Given the description of an element on the screen output the (x, y) to click on. 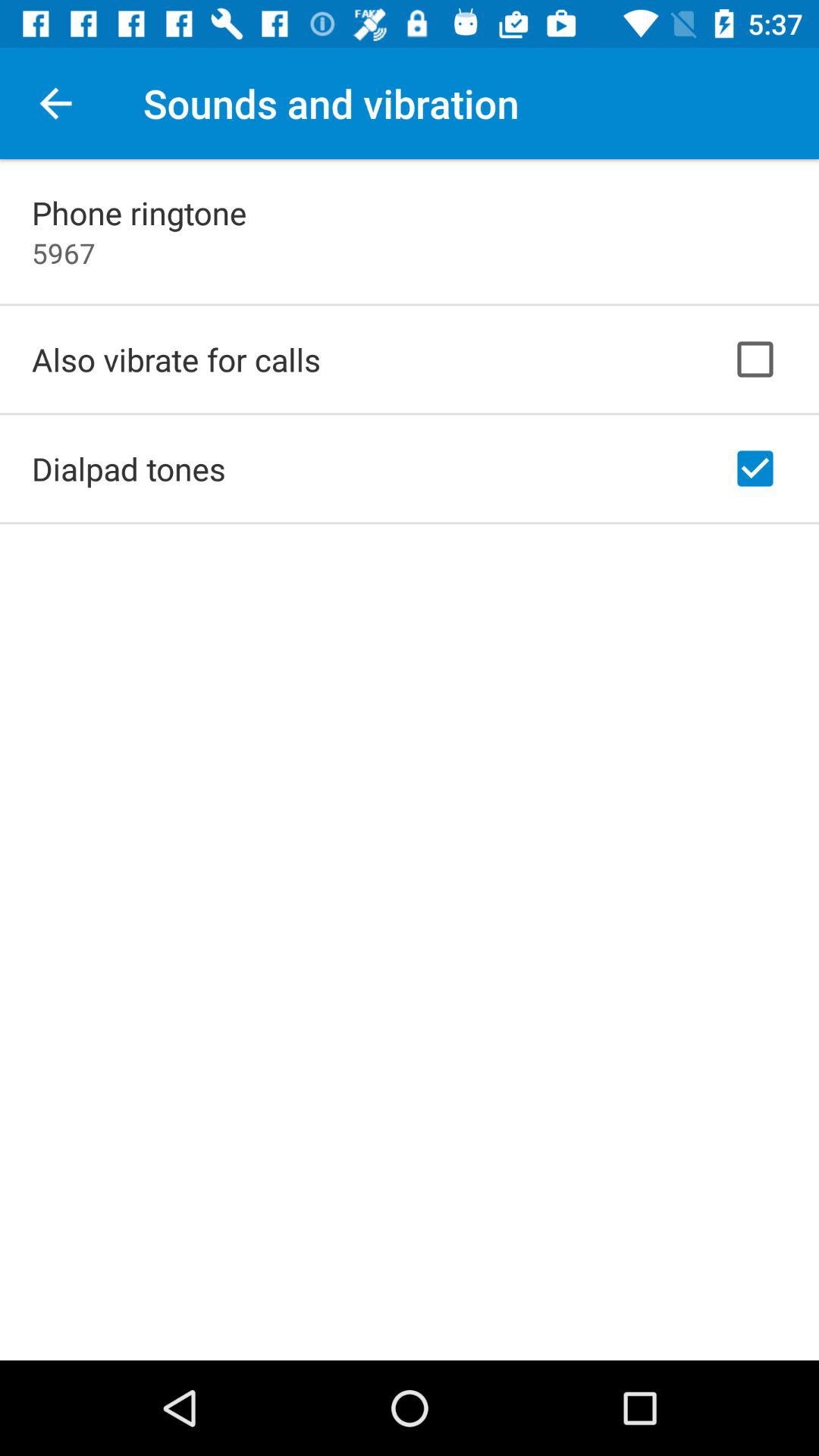
press the app above phone ringtone icon (55, 103)
